Given the description of an element on the screen output the (x, y) to click on. 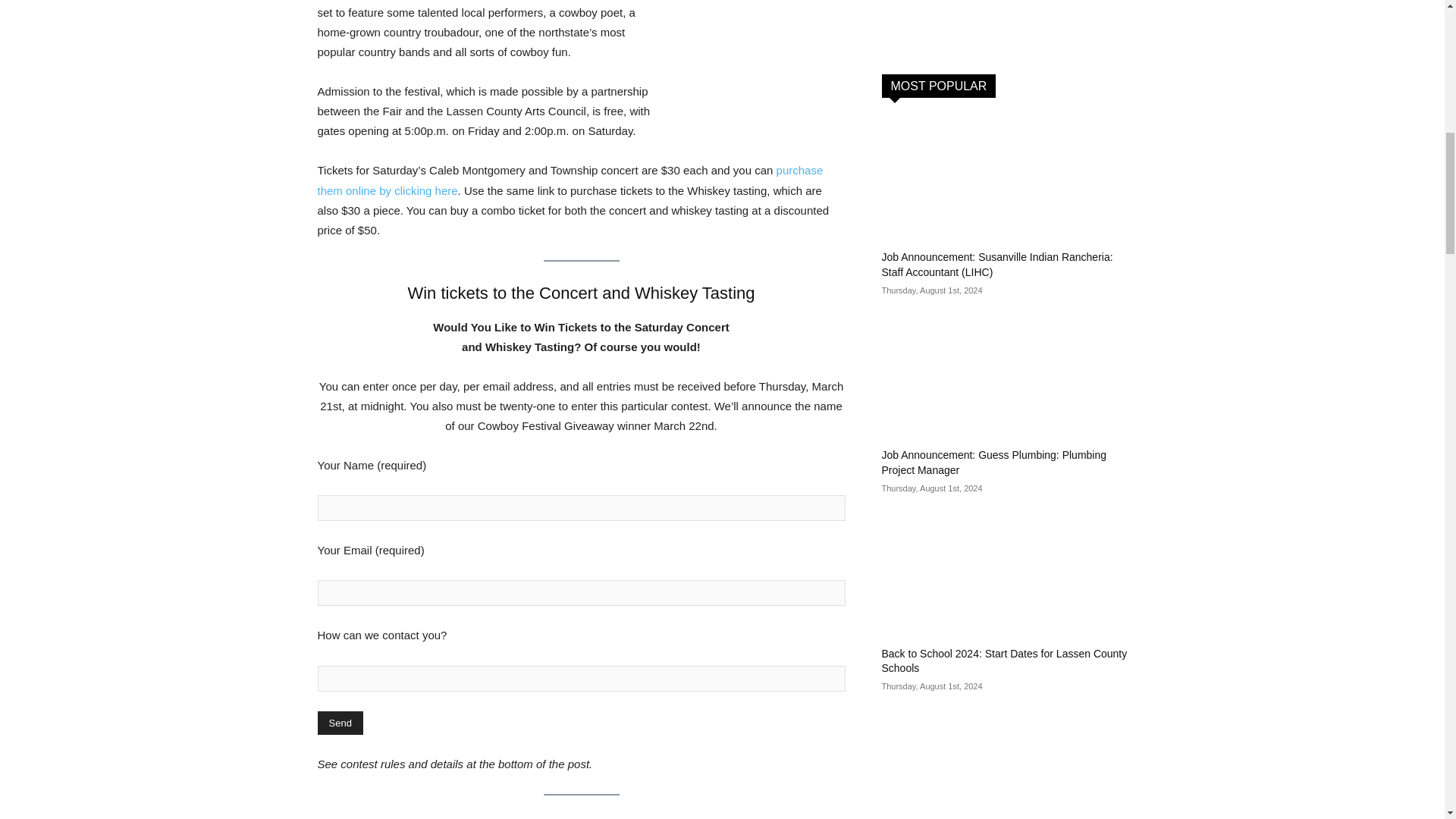
Send (339, 722)
